Given the description of an element on the screen output the (x, y) to click on. 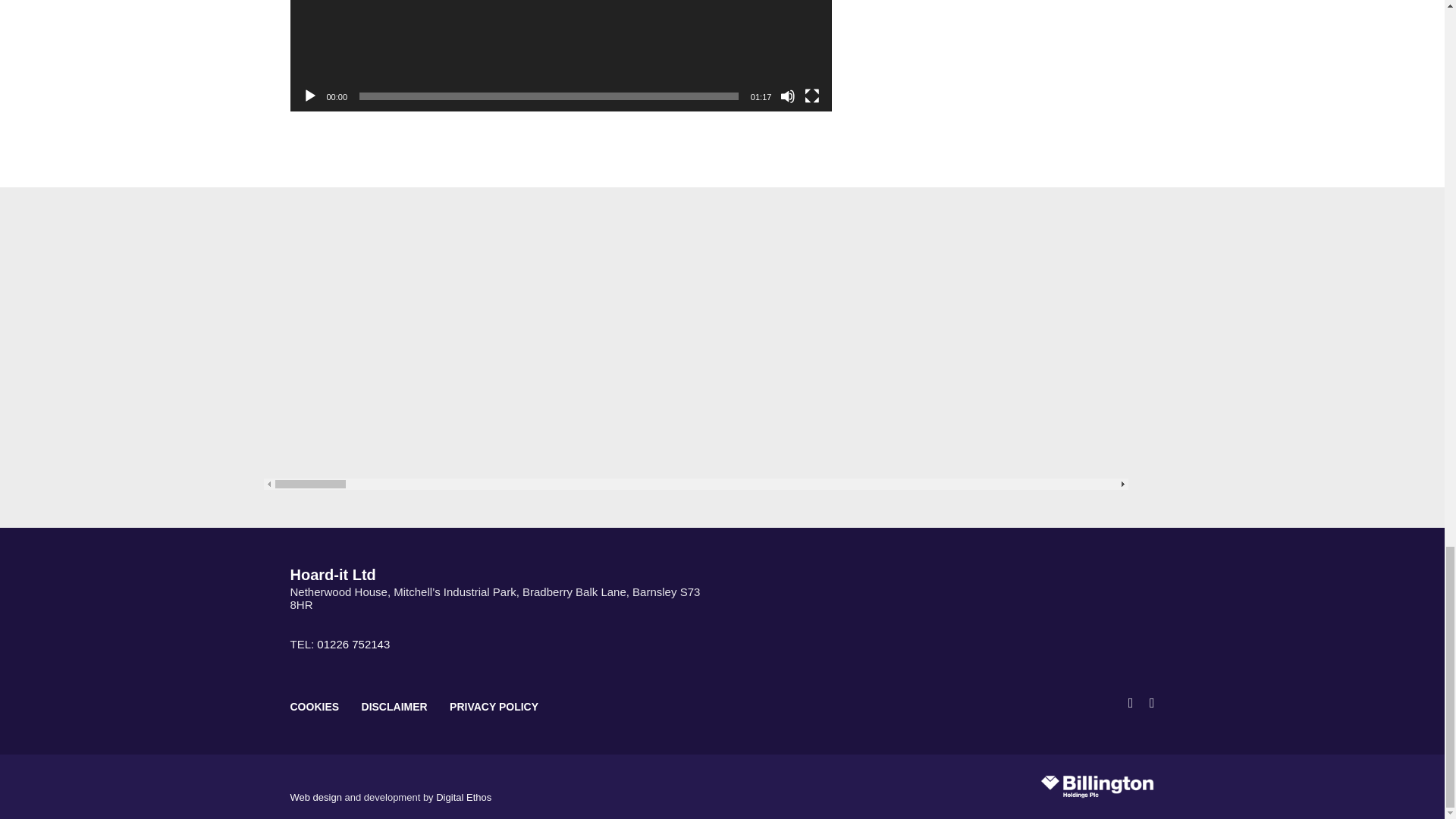
Fullscreen (812, 96)
Play (309, 96)
Mute (787, 96)
